Given the description of an element on the screen output the (x, y) to click on. 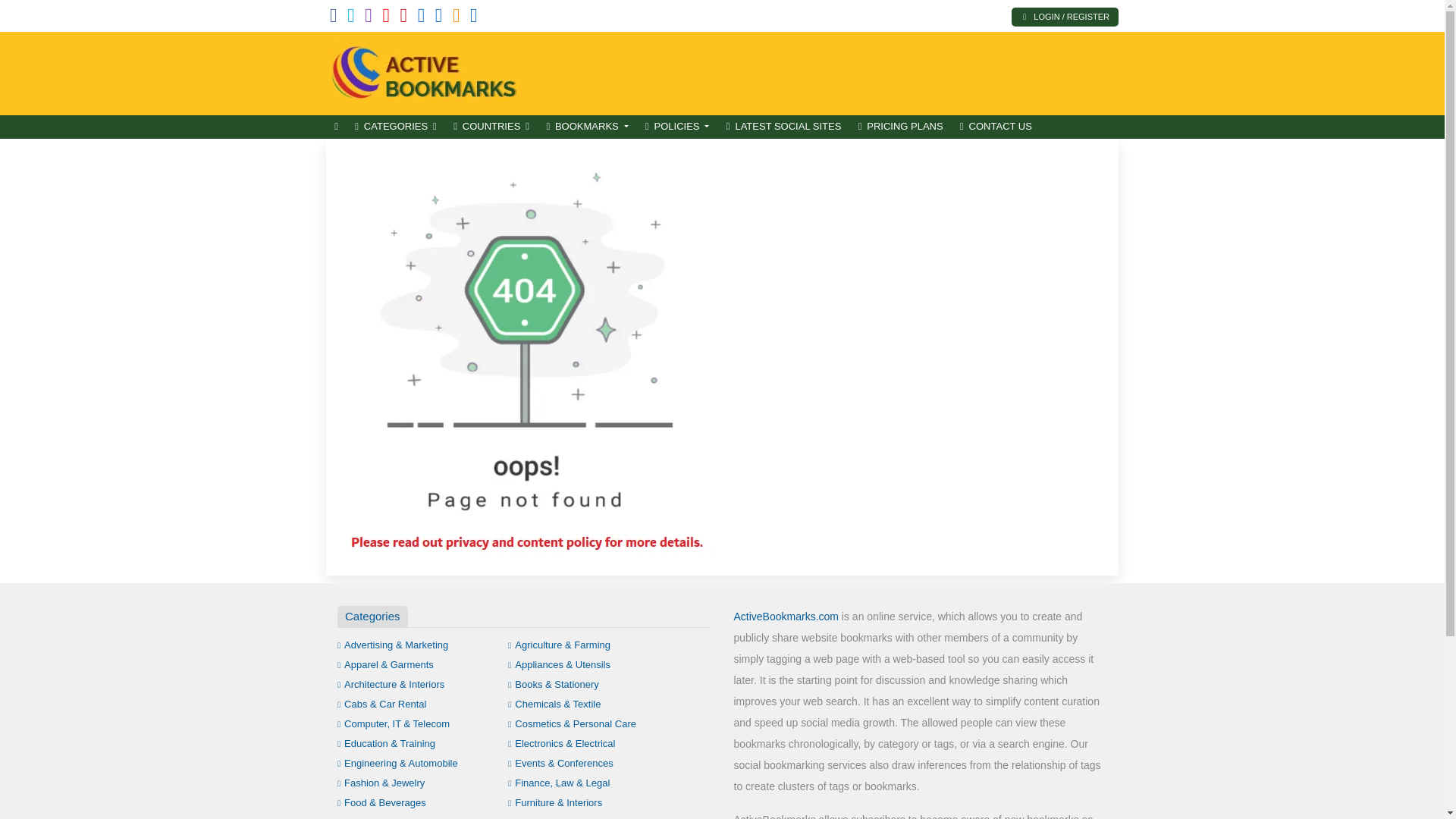
Tumblr (421, 18)
Medium (438, 18)
RSS Feed (456, 18)
Instagram (368, 18)
HOME (336, 126)
Quality Article Submitter and Social Bookmarking Service (428, 71)
Facebook (333, 18)
Linked In (473, 18)
Twitter (351, 18)
CATEGORIES (395, 126)
Pinterest (403, 18)
YouTube (385, 18)
